Given the description of an element on the screen output the (x, y) to click on. 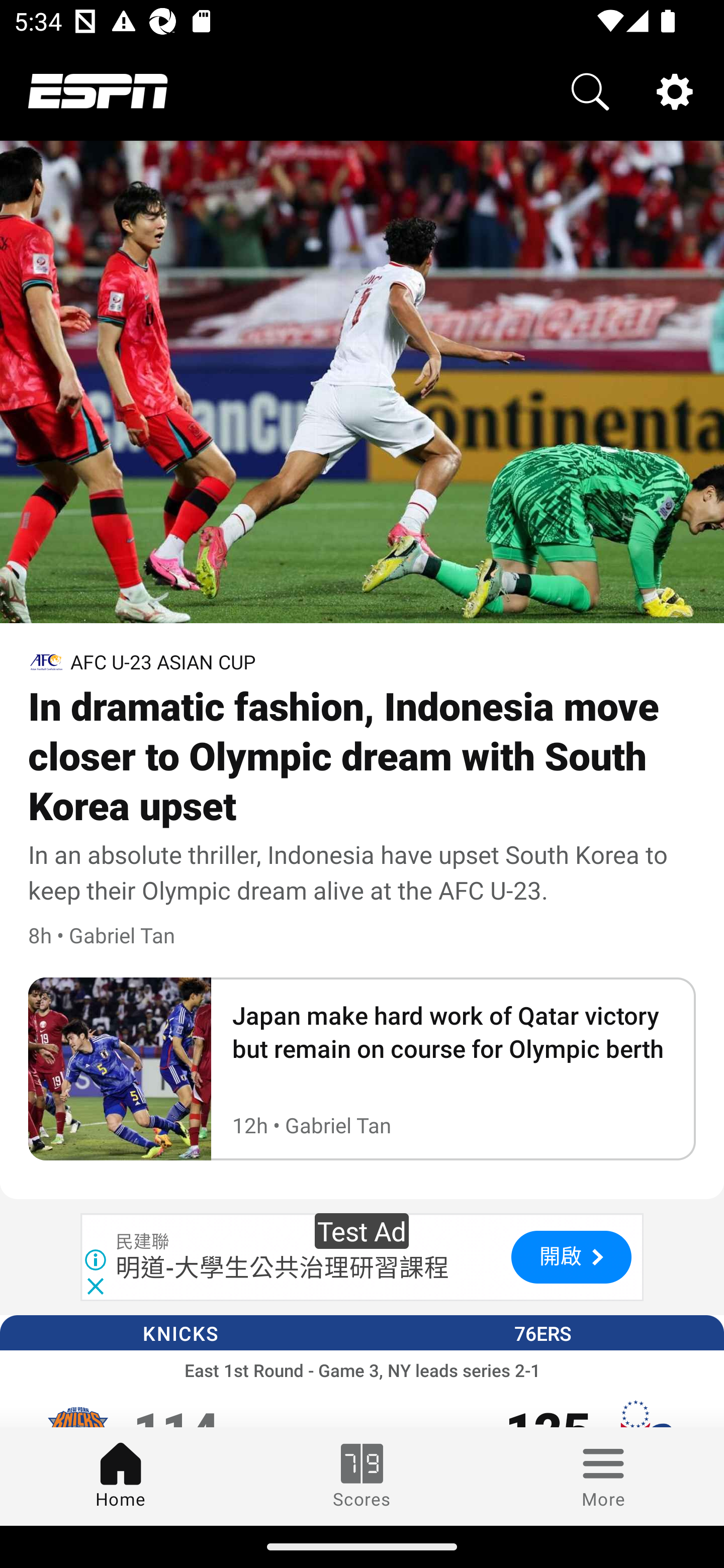
Search (590, 90)
Settings (674, 90)
Scores (361, 1475)
More (603, 1475)
